Given the description of an element on the screen output the (x, y) to click on. 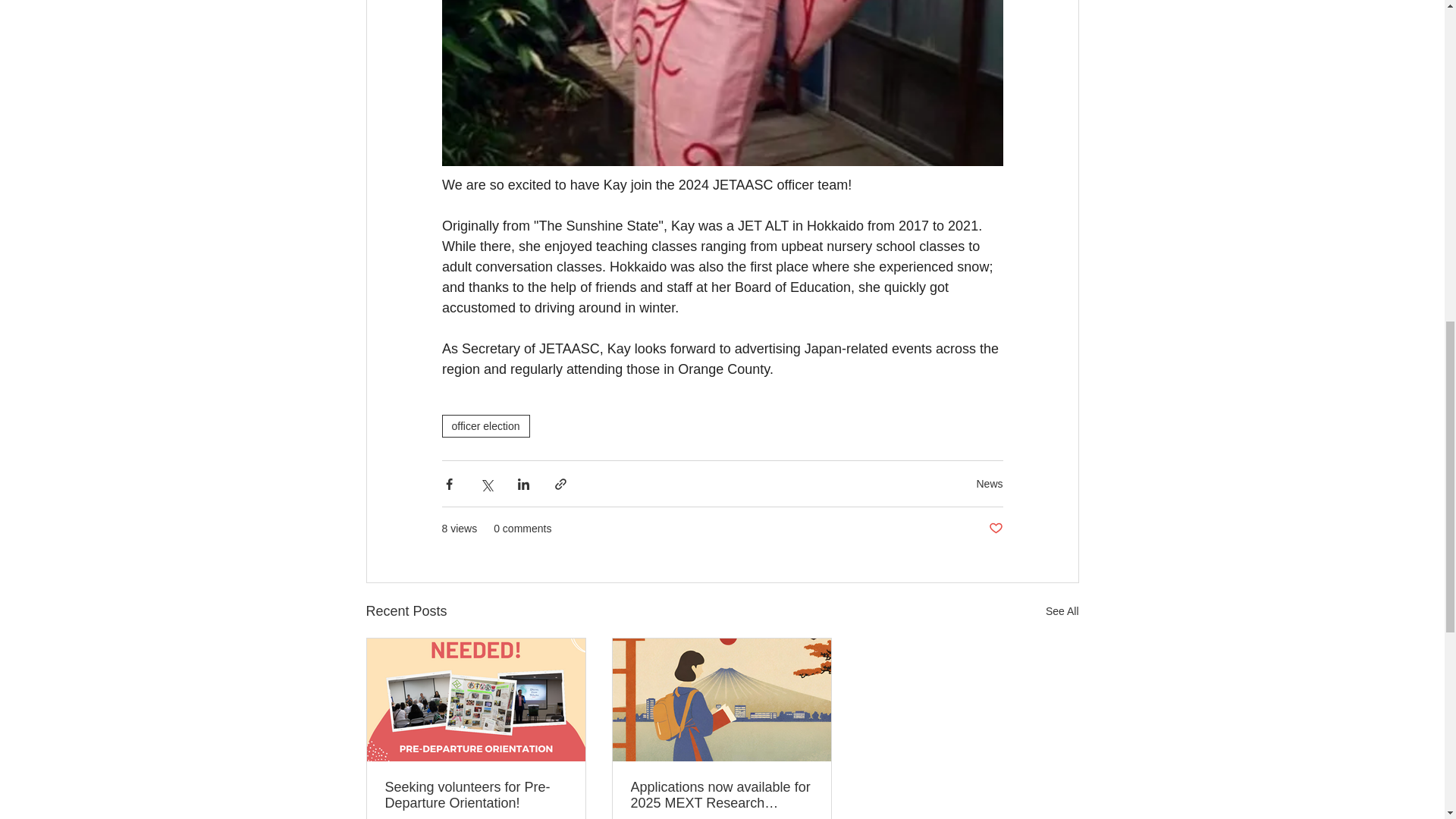
See All (1061, 611)
Post not marked as liked (995, 528)
News (989, 483)
Seeking volunteers for Pre-Departure Orientation! (476, 795)
officer election (485, 425)
